Given the description of an element on the screen output the (x, y) to click on. 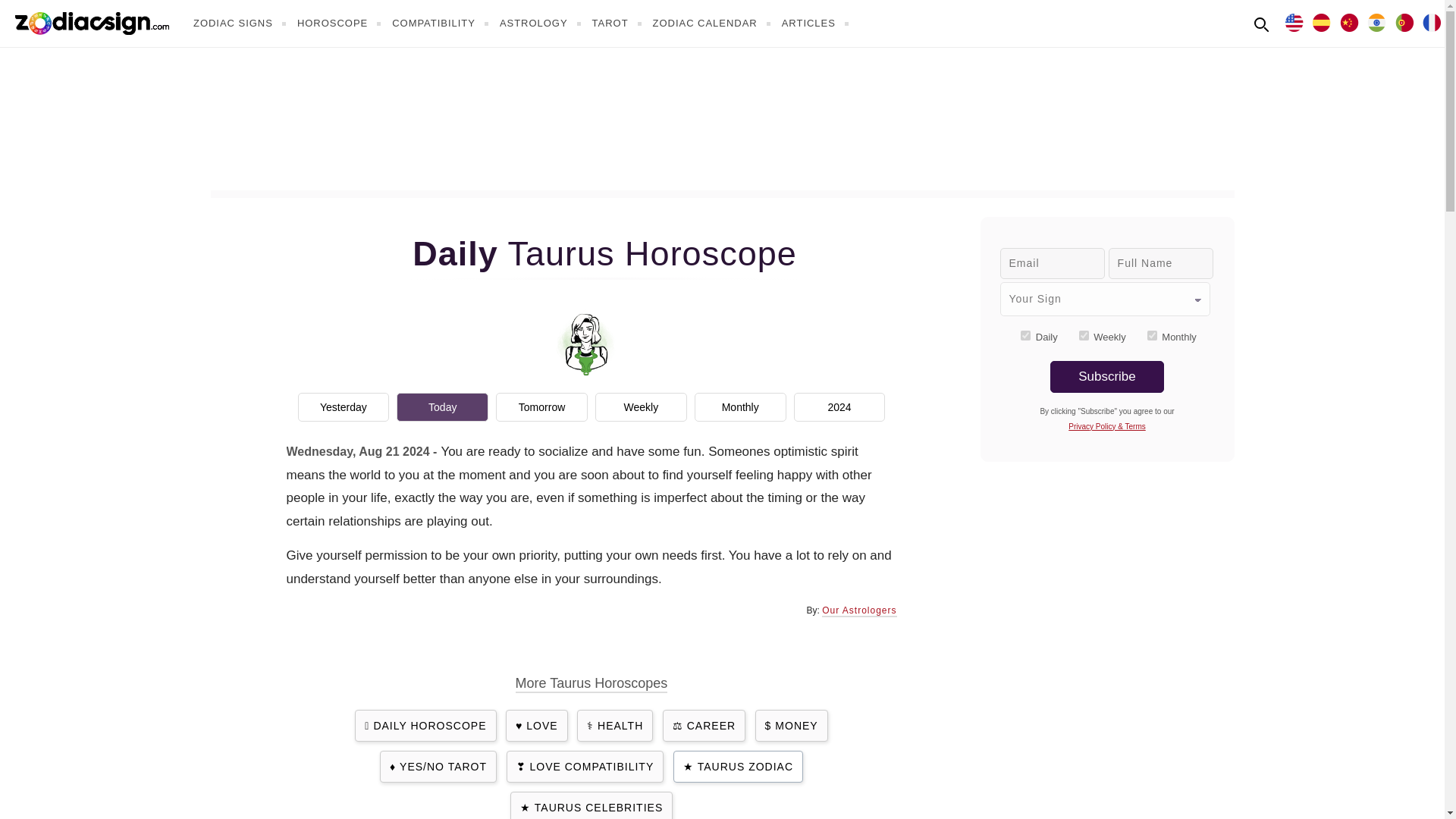
weekly (1083, 335)
daily (1025, 335)
monthly (1152, 335)
HOROSCOPE (341, 23)
ZODIAC SIGNS (241, 23)
In English (1294, 21)
